Given the description of an element on the screen output the (x, y) to click on. 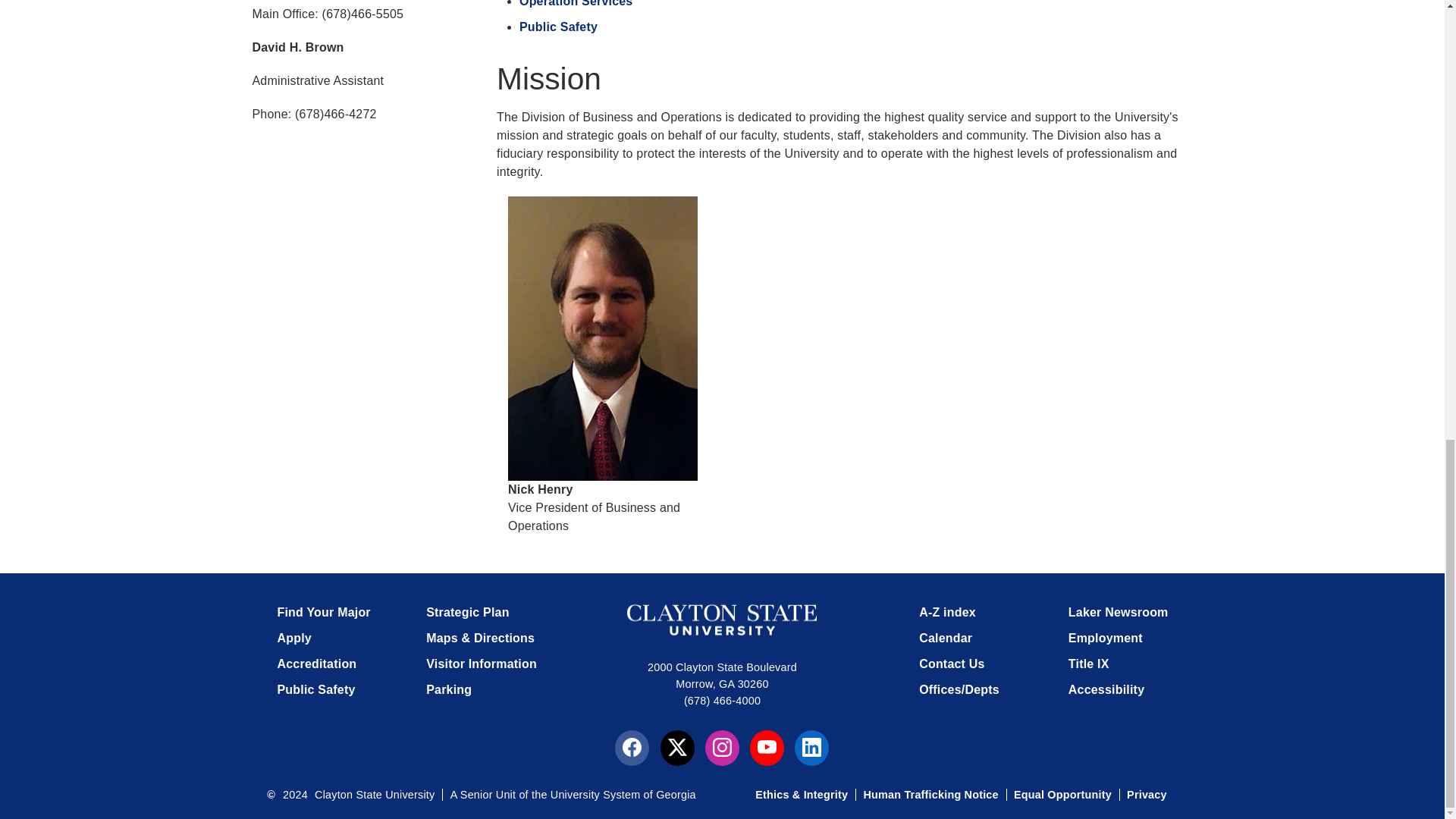
Clayton State (721, 619)
